Given the description of an element on the screen output the (x, y) to click on. 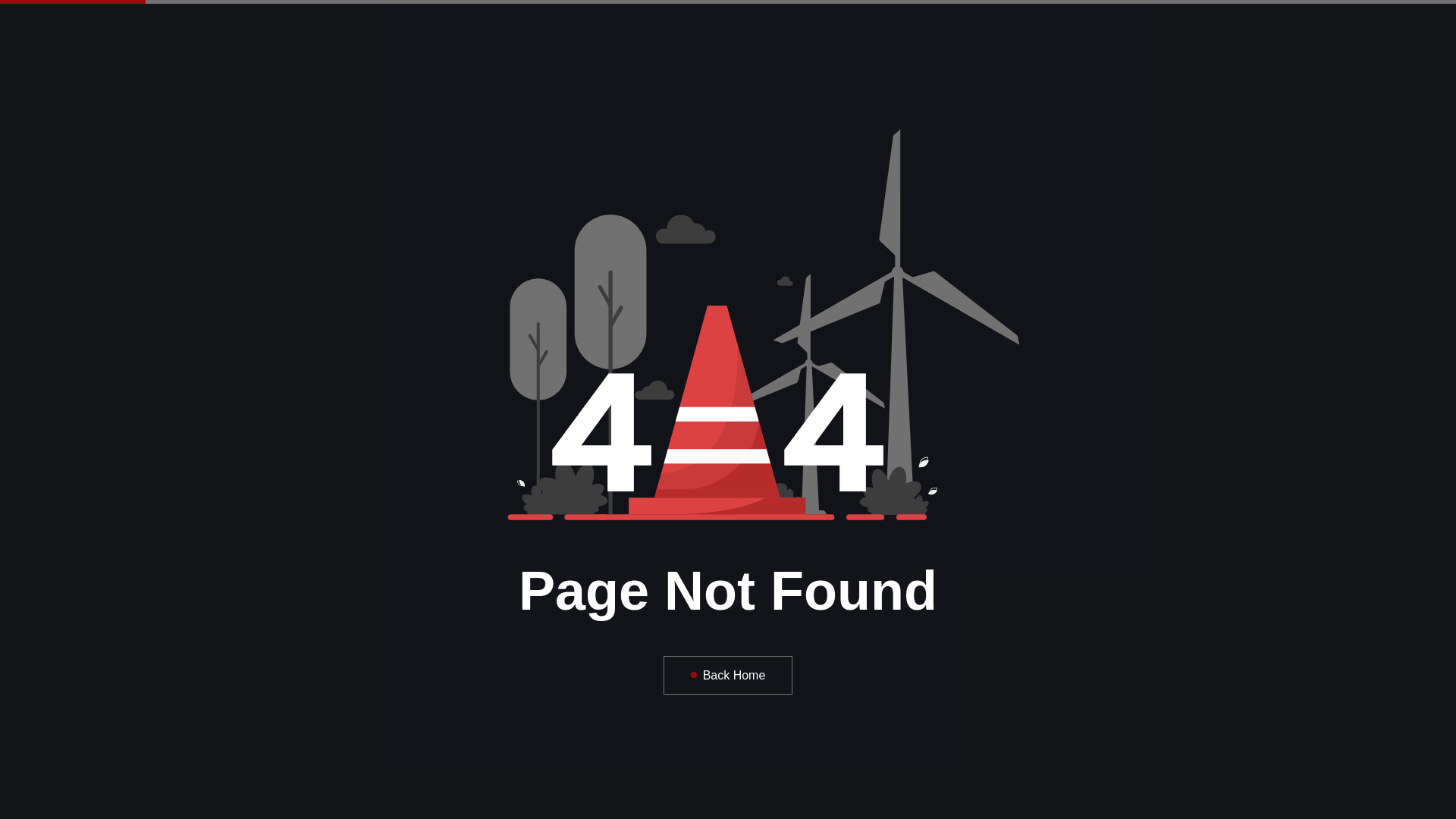
Back Home (728, 675)
